Given the description of an element on the screen output the (x, y) to click on. 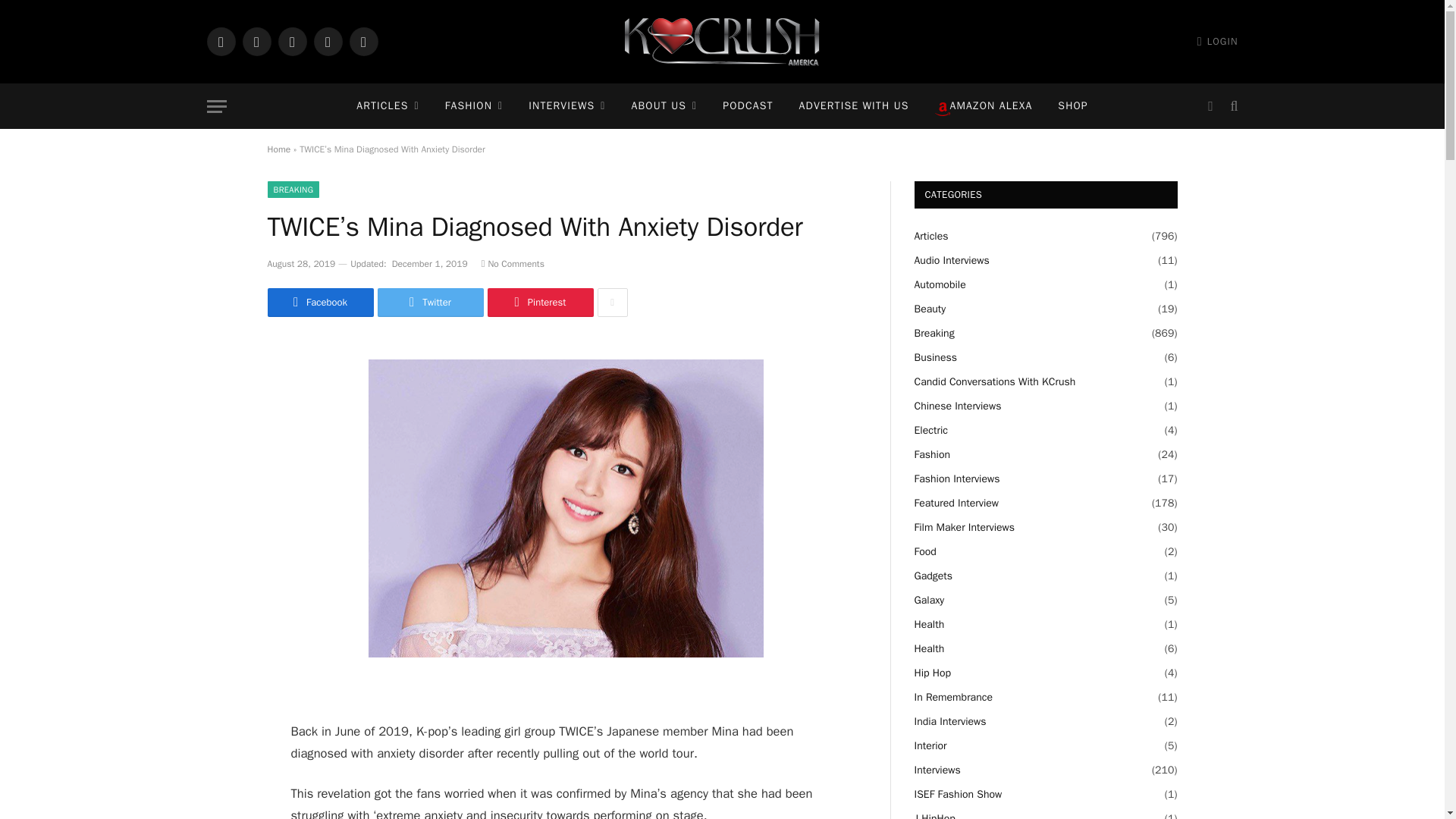
Switch to Dark Design - easier on eyes. (1209, 106)
Share on Pinterest (539, 302)
Share on Facebook (319, 302)
K Crush America Magazine (722, 41)
